Given the description of an element on the screen output the (x, y) to click on. 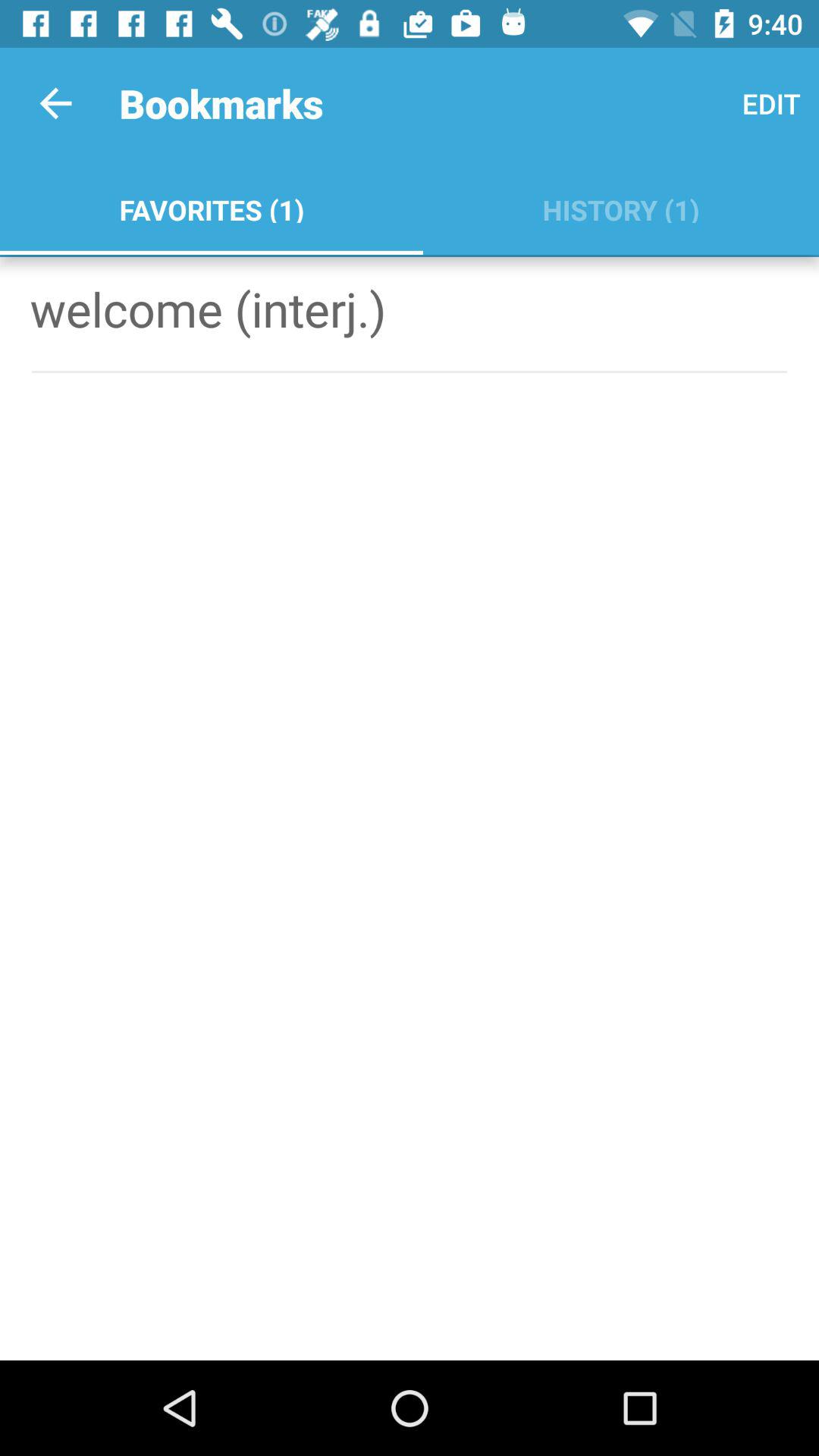
scroll until the history (1) item (621, 206)
